Given the description of an element on the screen output the (x, y) to click on. 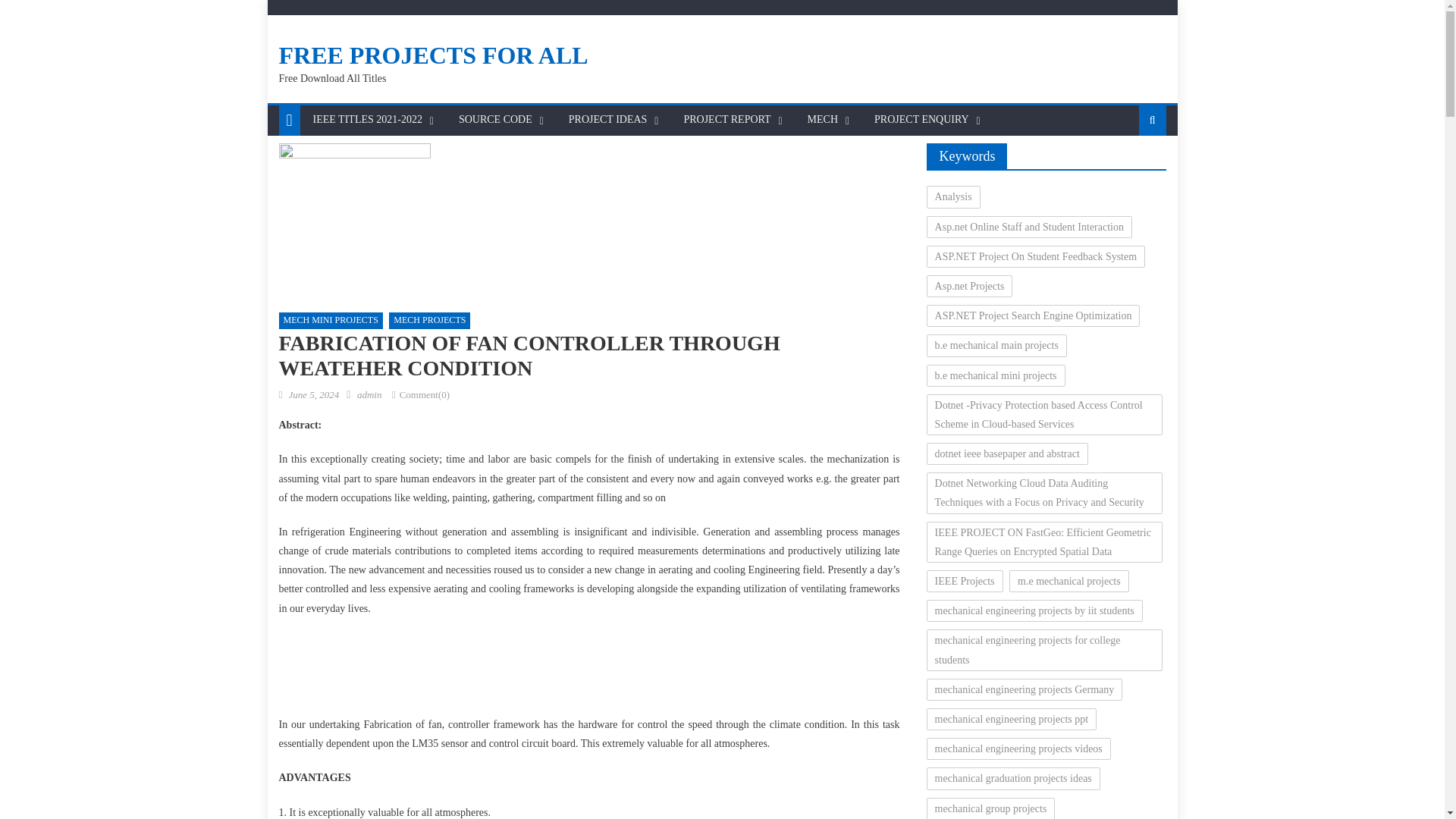
SOURCE CODE (494, 119)
FREE PROJECTS FOR ALL (433, 54)
PROJECT REPORT (726, 119)
PROJECT IDEAS (608, 119)
IEEE TITLES 2021-2022 (367, 119)
Advertisement (588, 671)
